Given the description of an element on the screen output the (x, y) to click on. 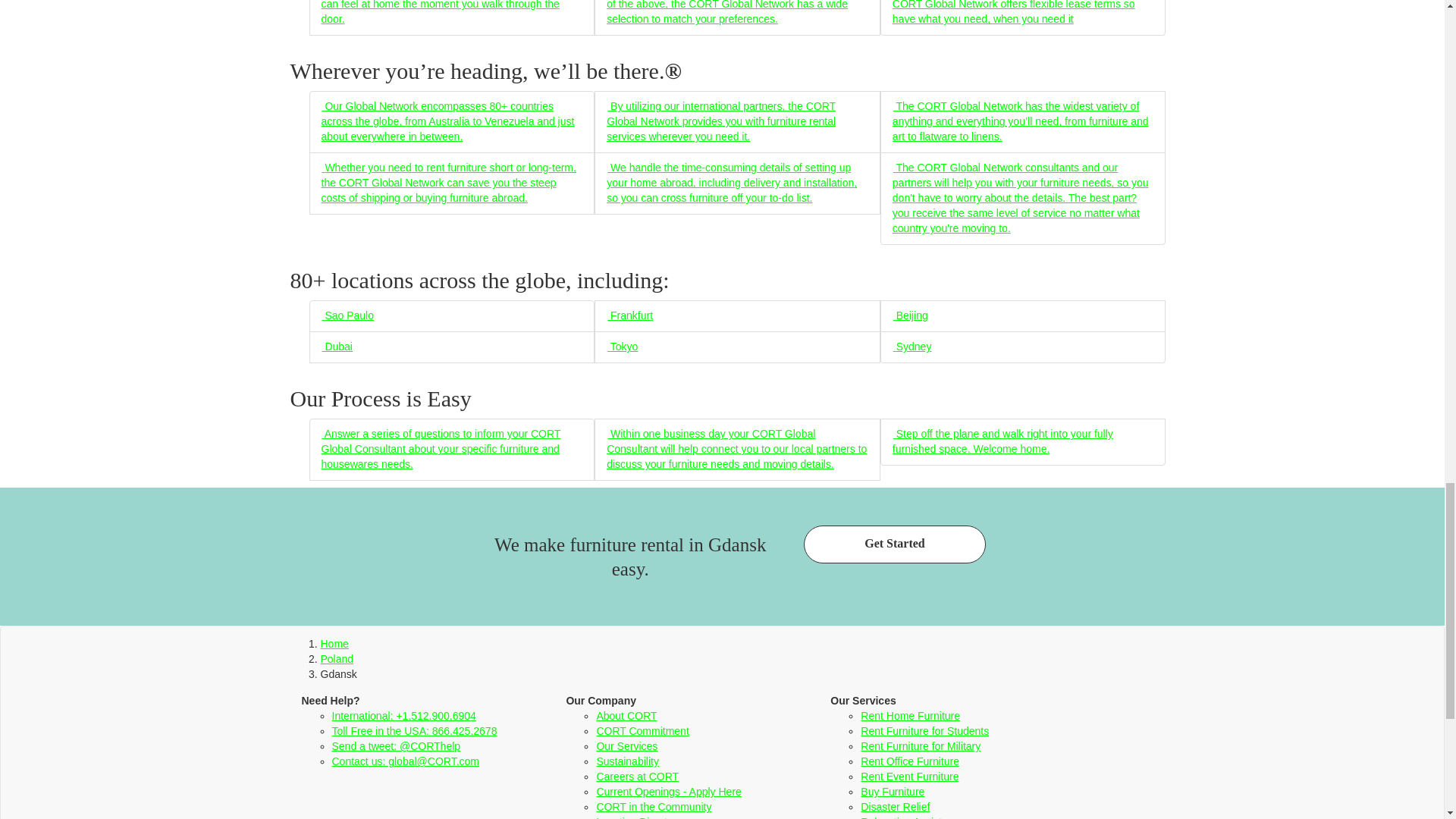
Sydney (911, 346)
Get Started (894, 544)
Tokyo (622, 346)
Frankfurt (629, 315)
Poland (336, 658)
Home (333, 644)
